Given the description of an element on the screen output the (x, y) to click on. 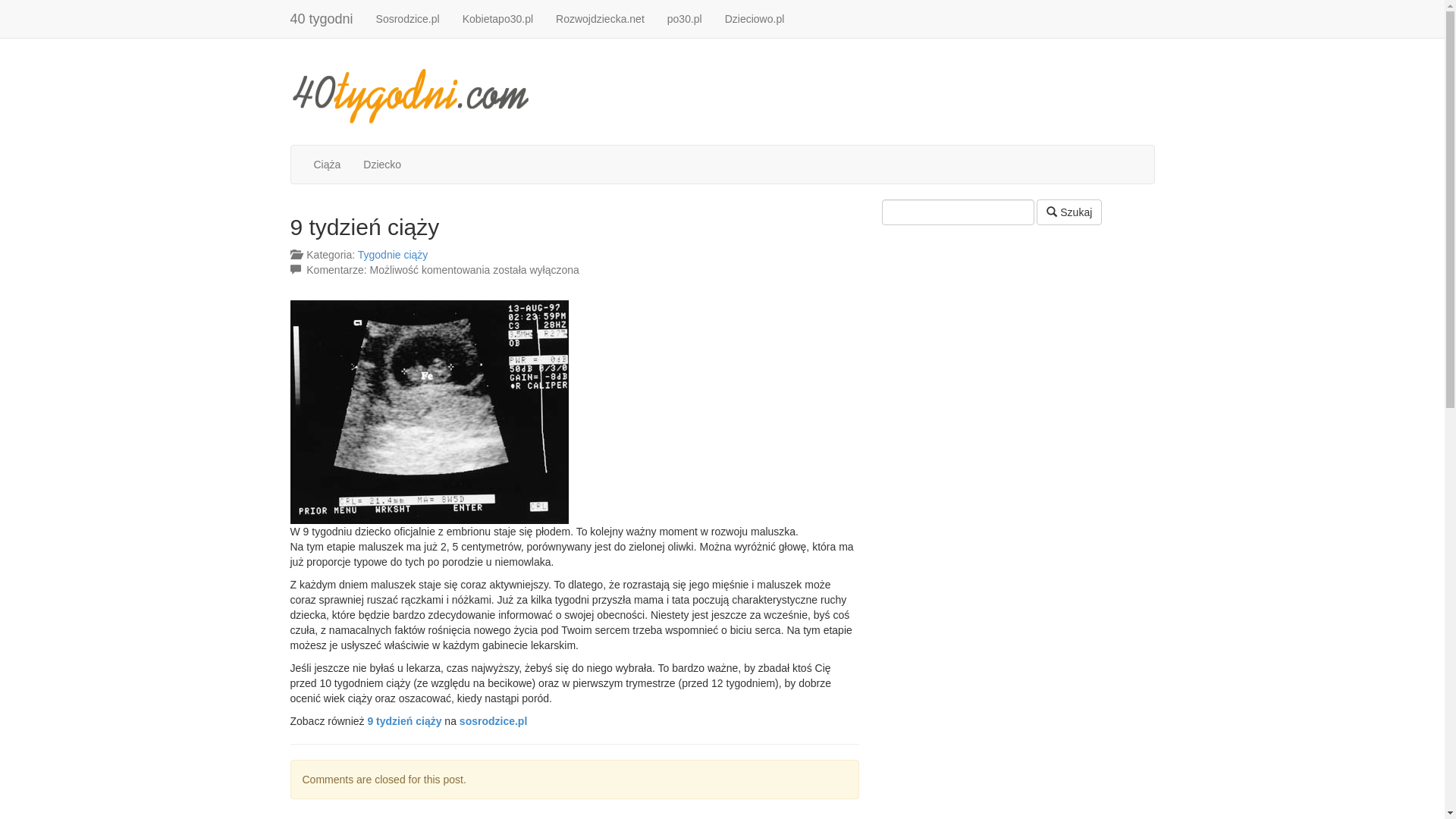
Rozwojdziecka.net Element type: text (599, 18)
sosrodzice.pl Element type: text (493, 721)
40 tygodni Element type: text (721, 91)
Szukaj Element type: text (1068, 212)
40 tygodni Element type: text (321, 18)
Dzieciowo.pl Element type: text (754, 18)
po30.pl Element type: text (684, 18)
Dziecko Element type: text (381, 164)
Kobietapo30.pl Element type: text (497, 18)
Sosrodzice.pl Element type: text (407, 18)
